Given the description of an element on the screen output the (x, y) to click on. 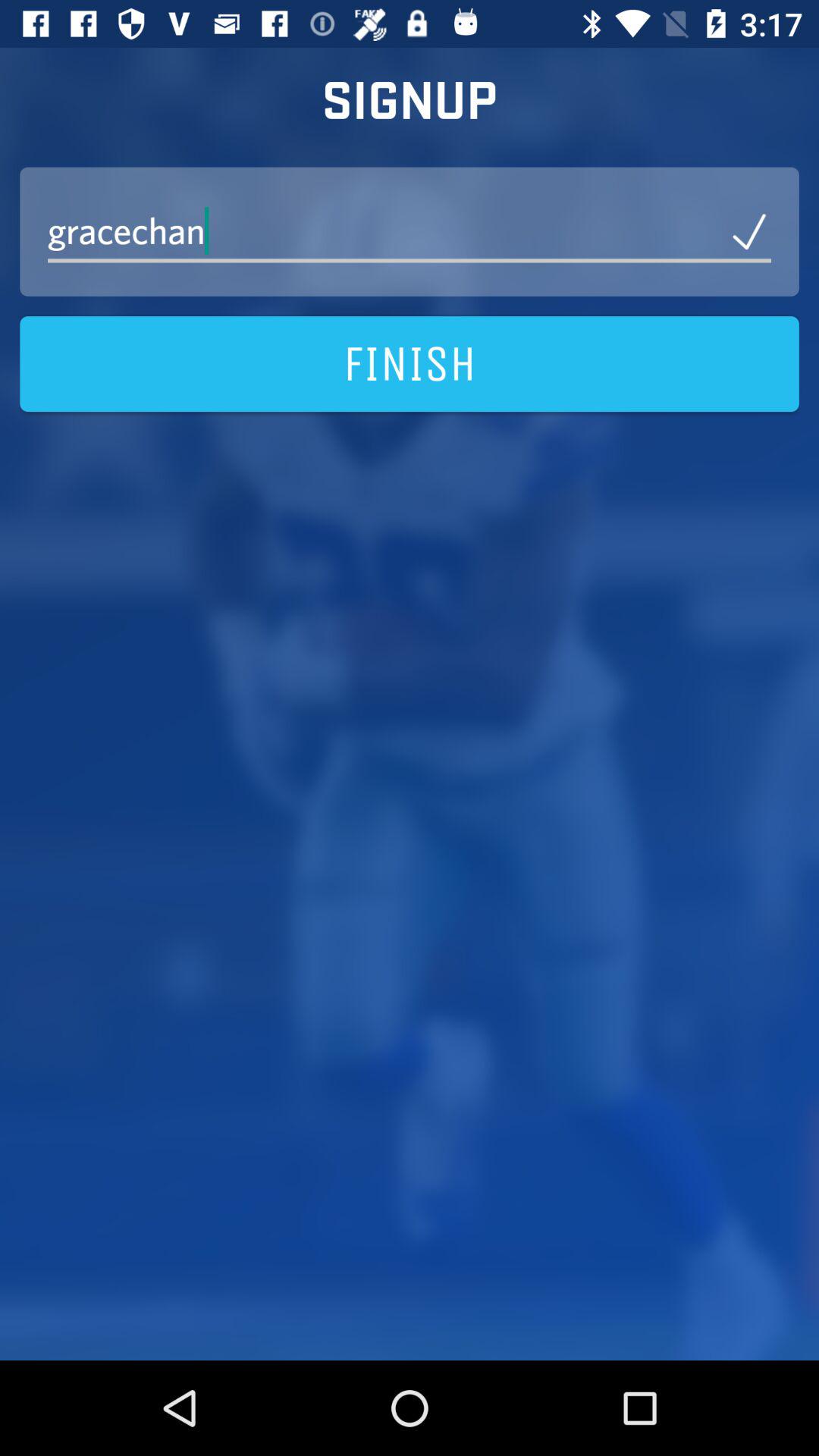
click the icon below signup item (409, 231)
